Given the description of an element on the screen output the (x, y) to click on. 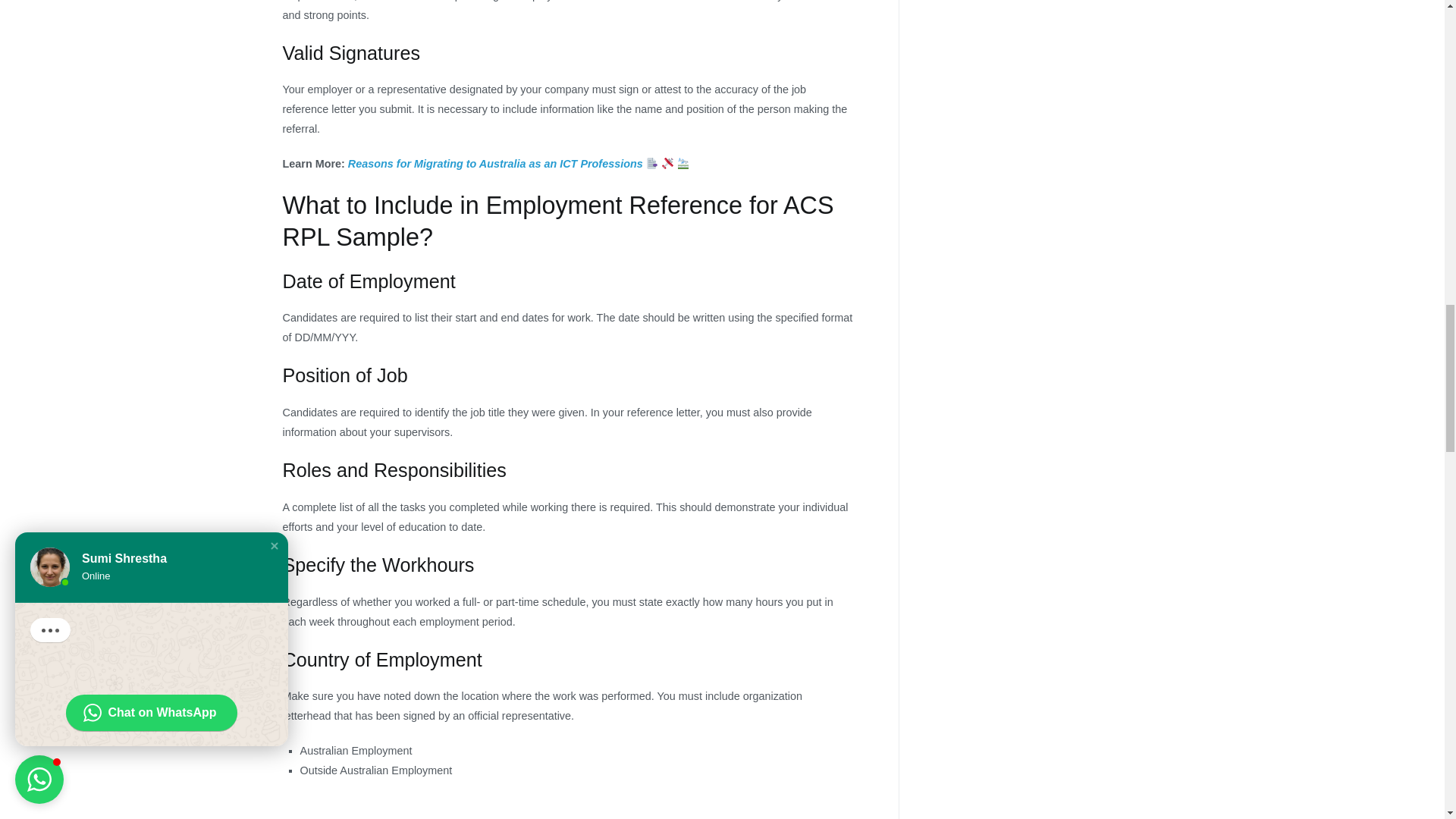
Reasons for Migrating to Australia as an ICT Professions (495, 163)
